Given the description of an element on the screen output the (x, y) to click on. 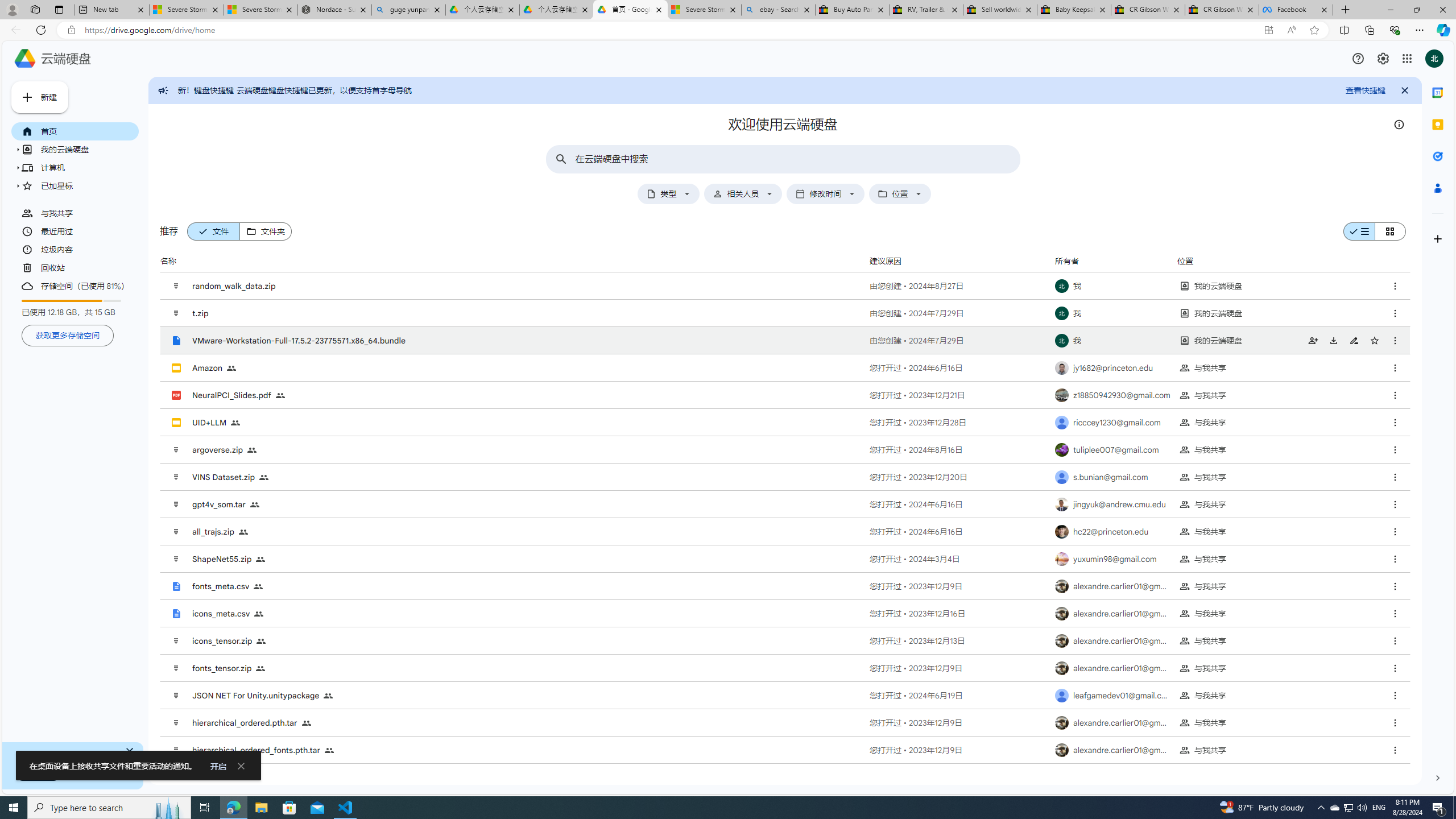
Class:  a-s-fa-Ha-pa c-qd (1382, 58)
AutomationID: Layer_1 (1437, 777)
Class: Q6yead QJZfhe iWSr5 (251, 231)
